Given the description of an element on the screen output the (x, y) to click on. 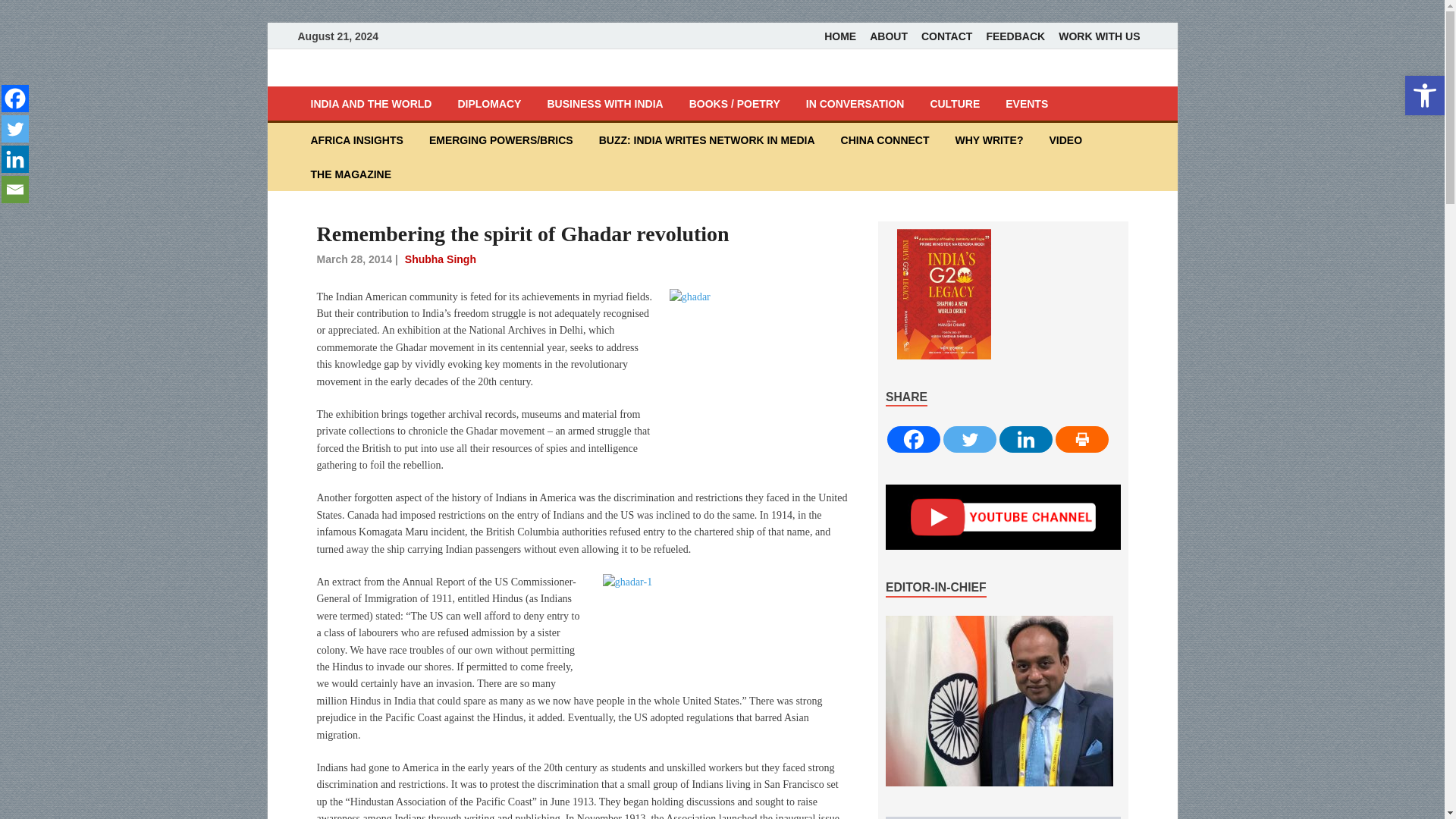
VIDEO (1064, 139)
IN CONVERSATION (855, 103)
WHY WRITE? (988, 139)
Accessibility Tools (1424, 95)
CULTURE (954, 103)
DIPLOMACY (489, 103)
BUZZ: INDIA WRITES NETWORK IN MEDIA (707, 139)
WORK WITH US (1099, 35)
India Writes (376, 75)
EVENTS (1026, 103)
